Given the description of an element on the screen output the (x, y) to click on. 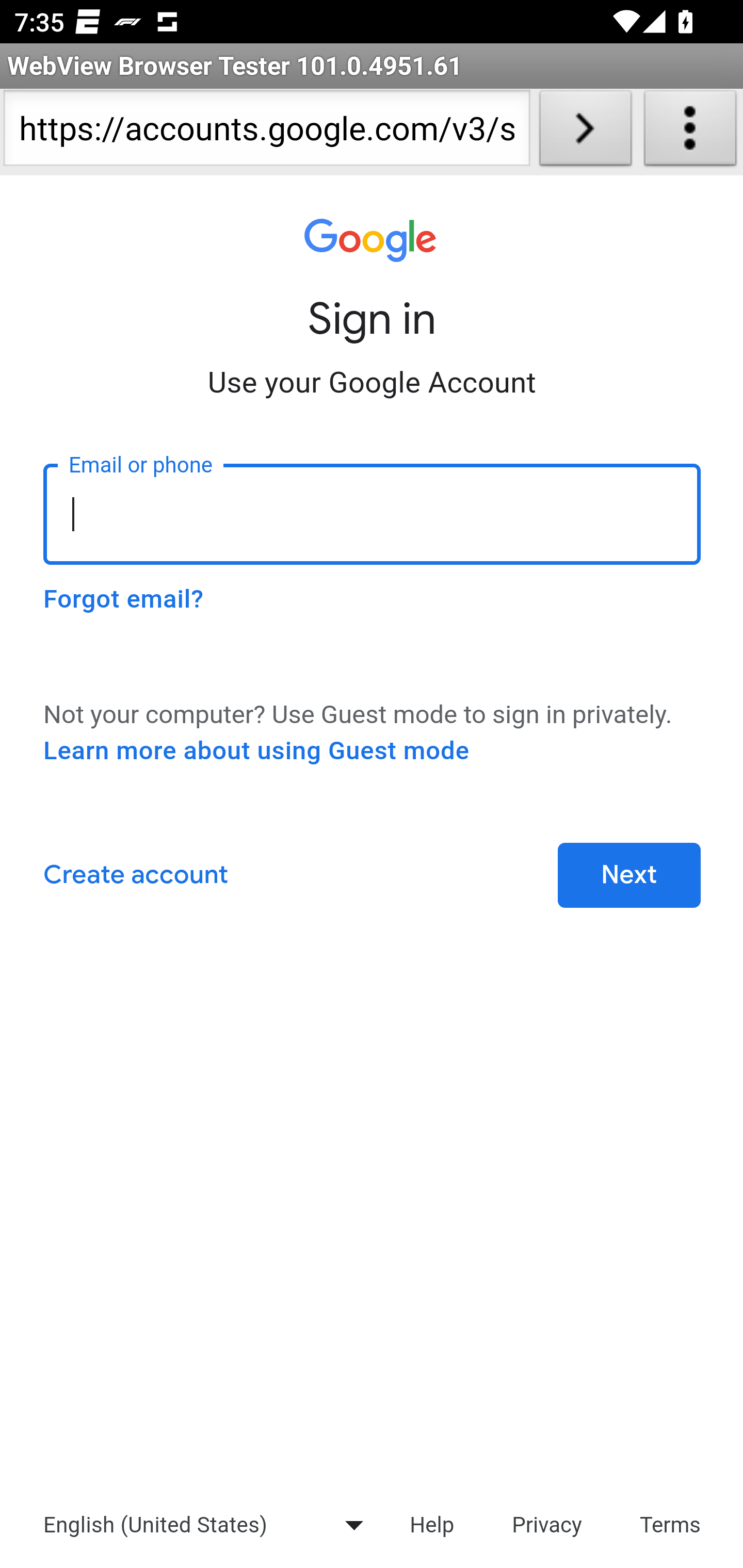
Load URL (585, 132)
About WebView (690, 132)
Forgot email? (123, 599)
Learn more about using Guest mode (256, 750)
Create account (134, 875)
Next (629, 875)
Help (430, 1524)
Privacy (547, 1524)
Terms (670, 1524)
